Given the description of an element on the screen output the (x, y) to click on. 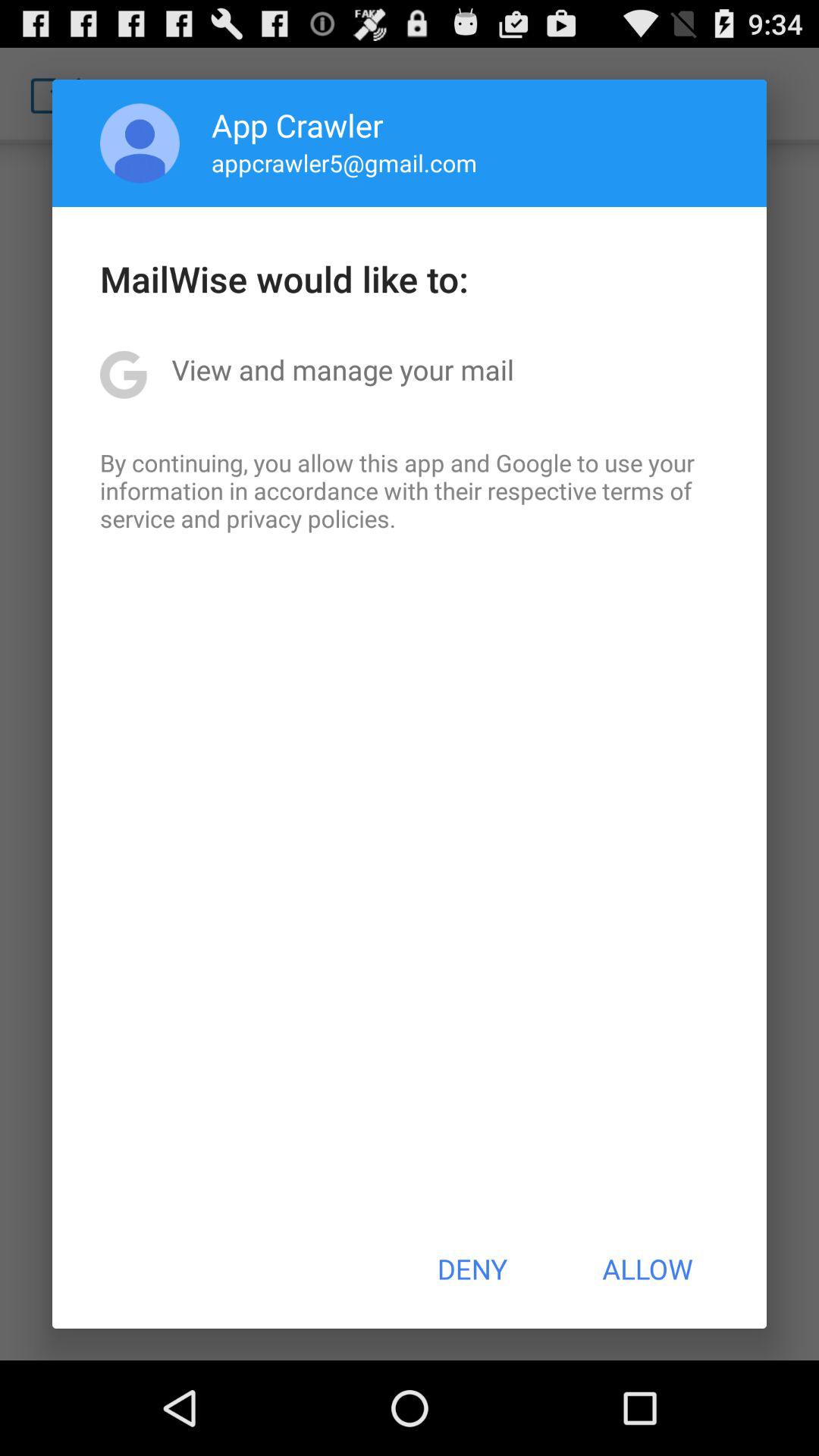
tap the app next to app crawler item (139, 143)
